Given the description of an element on the screen output the (x, y) to click on. 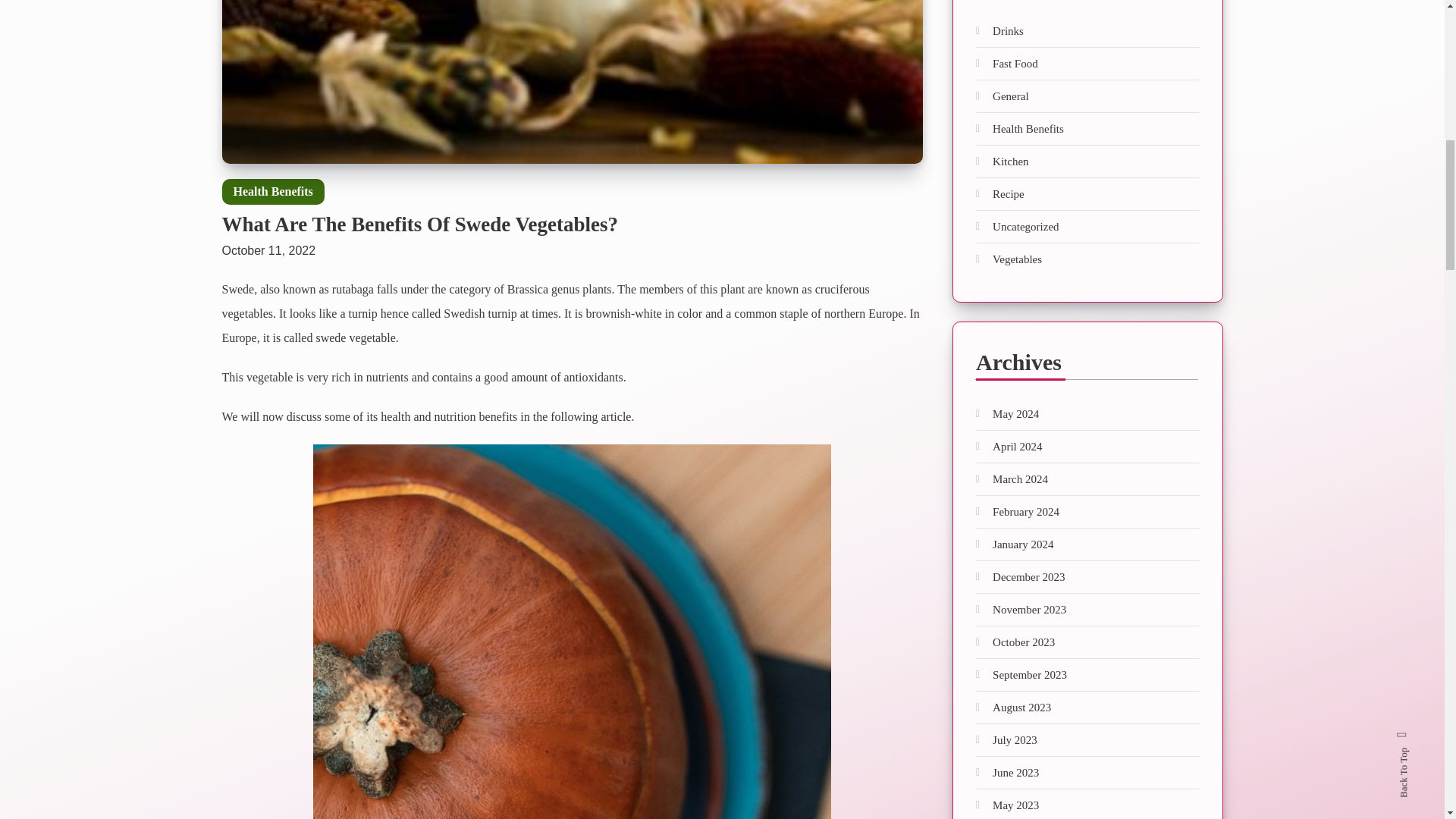
Drinks (999, 30)
Health Benefits (1019, 128)
October 11, 2022 (268, 243)
General (1001, 96)
Health Benefits (272, 191)
Kitchen (1001, 161)
Fast Food (1006, 63)
